Given the description of an element on the screen output the (x, y) to click on. 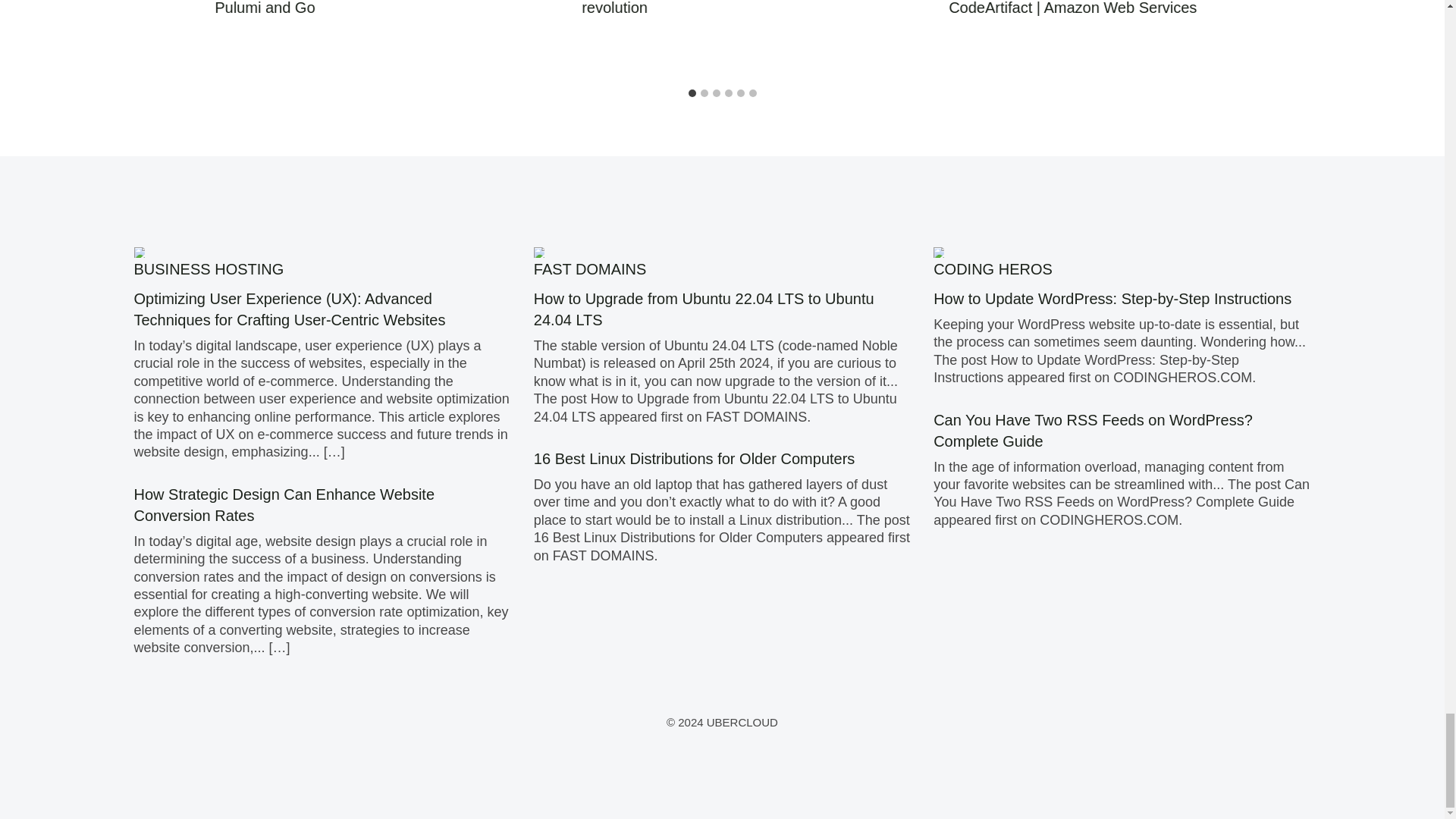
Getting AWS Availability Zones using Pulumi and Go (338, 7)
